Given the description of an element on the screen output the (x, y) to click on. 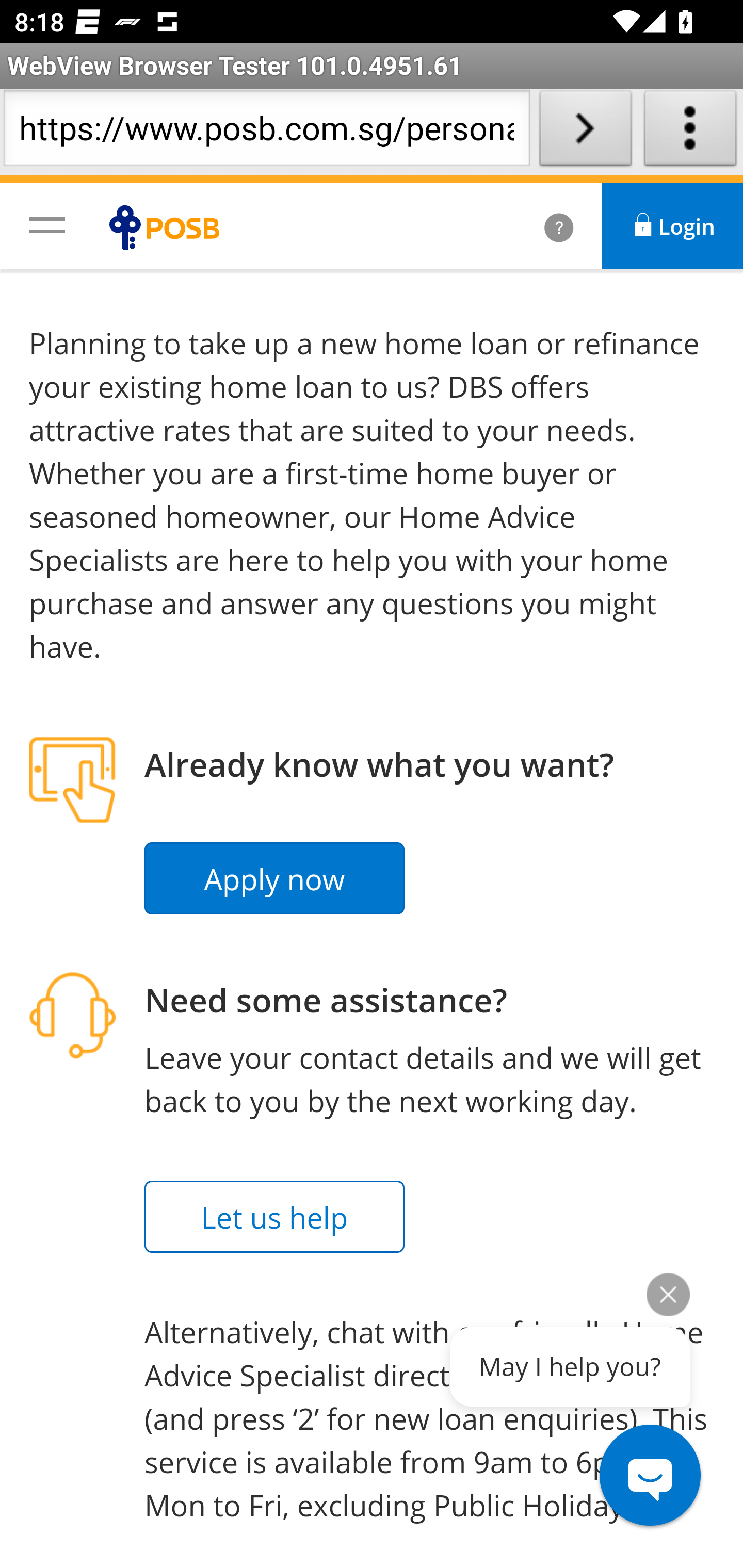
Load URL (585, 132)
About WebView (690, 132)
javascript:void(0); (46, 223)
POSB logo (169, 226)
ﱲ (537, 226)
Login  Login (673, 225)
Apply now (275, 878)
Let us help (275, 1216)
